Given the description of an element on the screen output the (x, y) to click on. 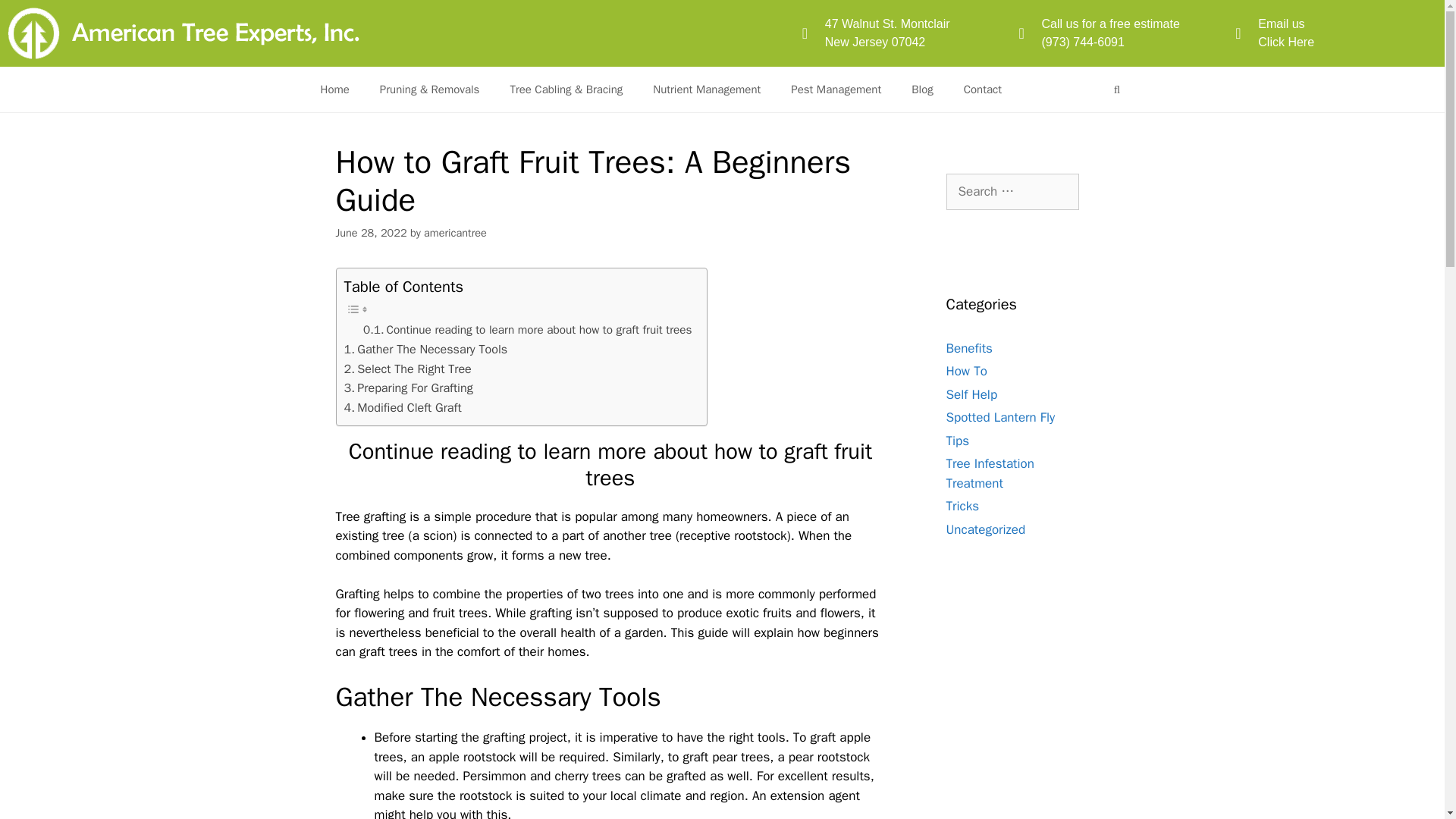
Tips (957, 439)
Modified Cleft Graft (1335, 33)
Preparing For Grafting (402, 407)
Tricks (408, 388)
How To (962, 505)
Contact (966, 371)
View all posts by americantree (982, 89)
Home (454, 232)
